Given the description of an element on the screen output the (x, y) to click on. 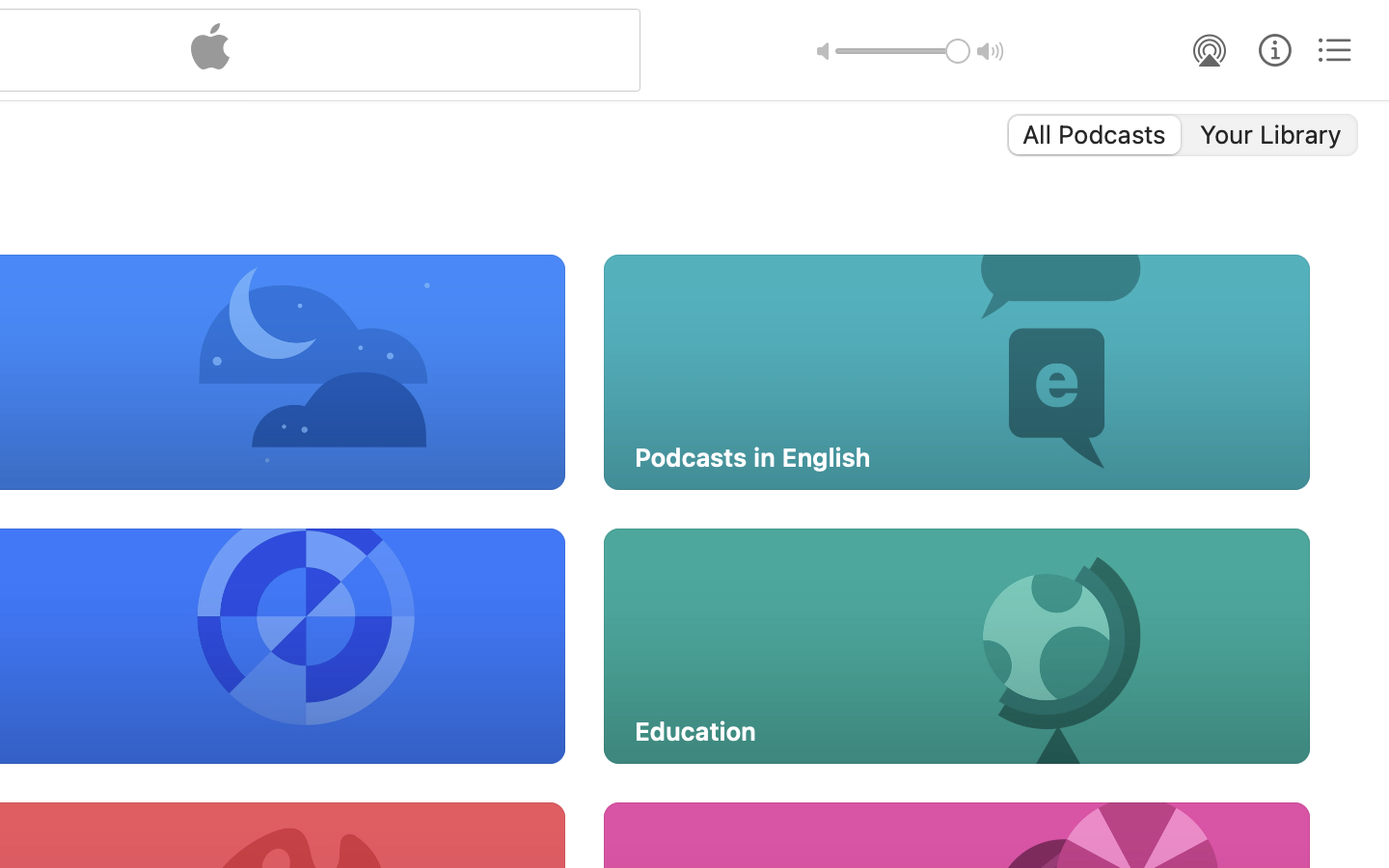
1 Element type: AXRadioButton (1092, 134)
1.0 Element type: AXSlider (902, 50)
0 Element type: AXRadioButton (1271, 134)
